Given the description of an element on the screen output the (x, y) to click on. 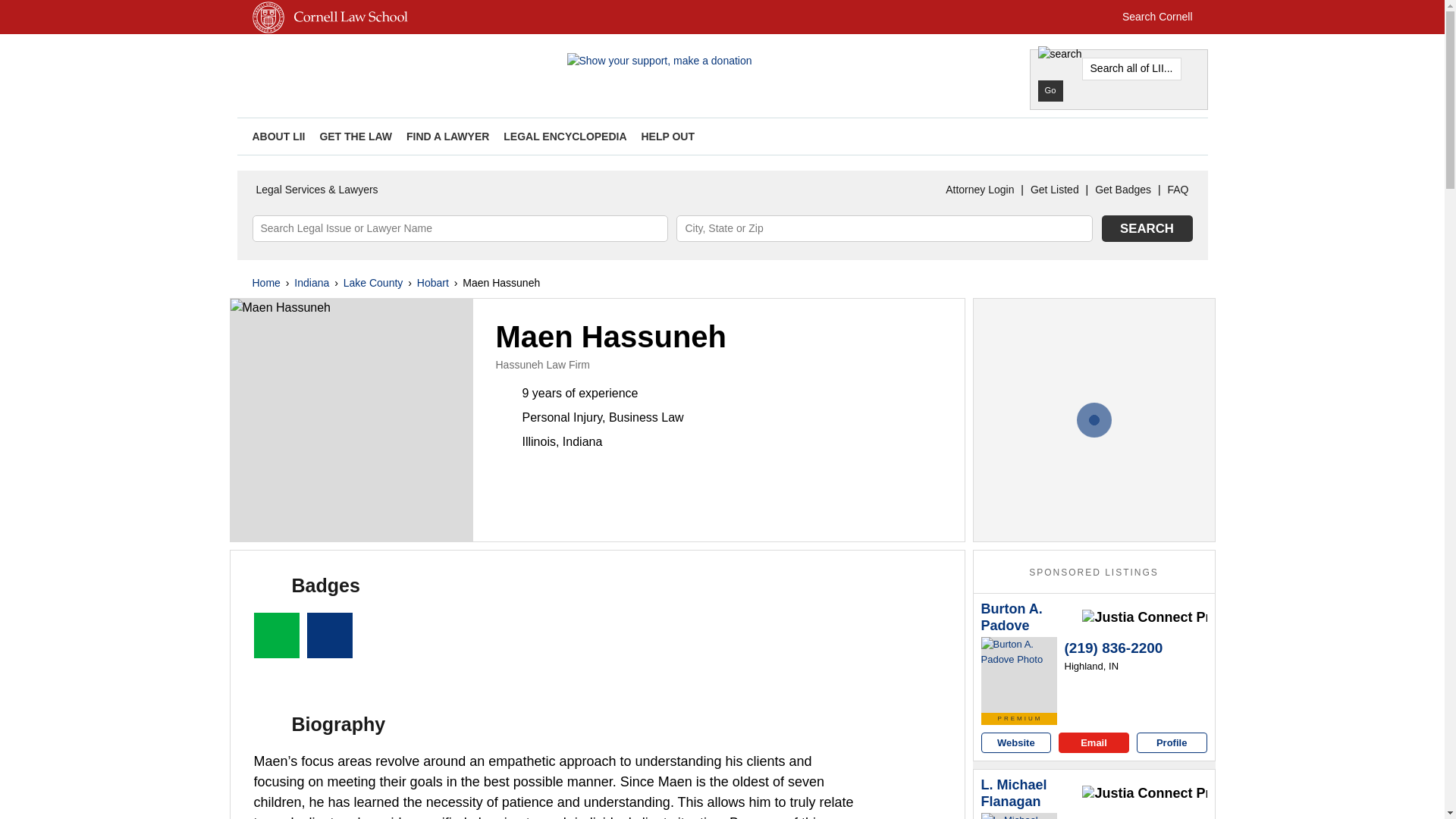
Search all of LII... (1130, 68)
Search Cornell (1157, 16)
Burton A. Padove (1029, 617)
Search Legal Issue or Lawyer Name (459, 228)
Go (1049, 90)
FAQ (1177, 189)
Get Badges (1122, 189)
Attorney Login (979, 189)
SPONSORED LISTINGS (1093, 572)
City, State or Zip (885, 228)
Get Listed (1054, 189)
L. Michael Flanagan (1019, 816)
L. Michael Flanagan (1029, 793)
facebook like (1173, 136)
ABOUT LII (277, 136)
